Given the description of an element on the screen output the (x, y) to click on. 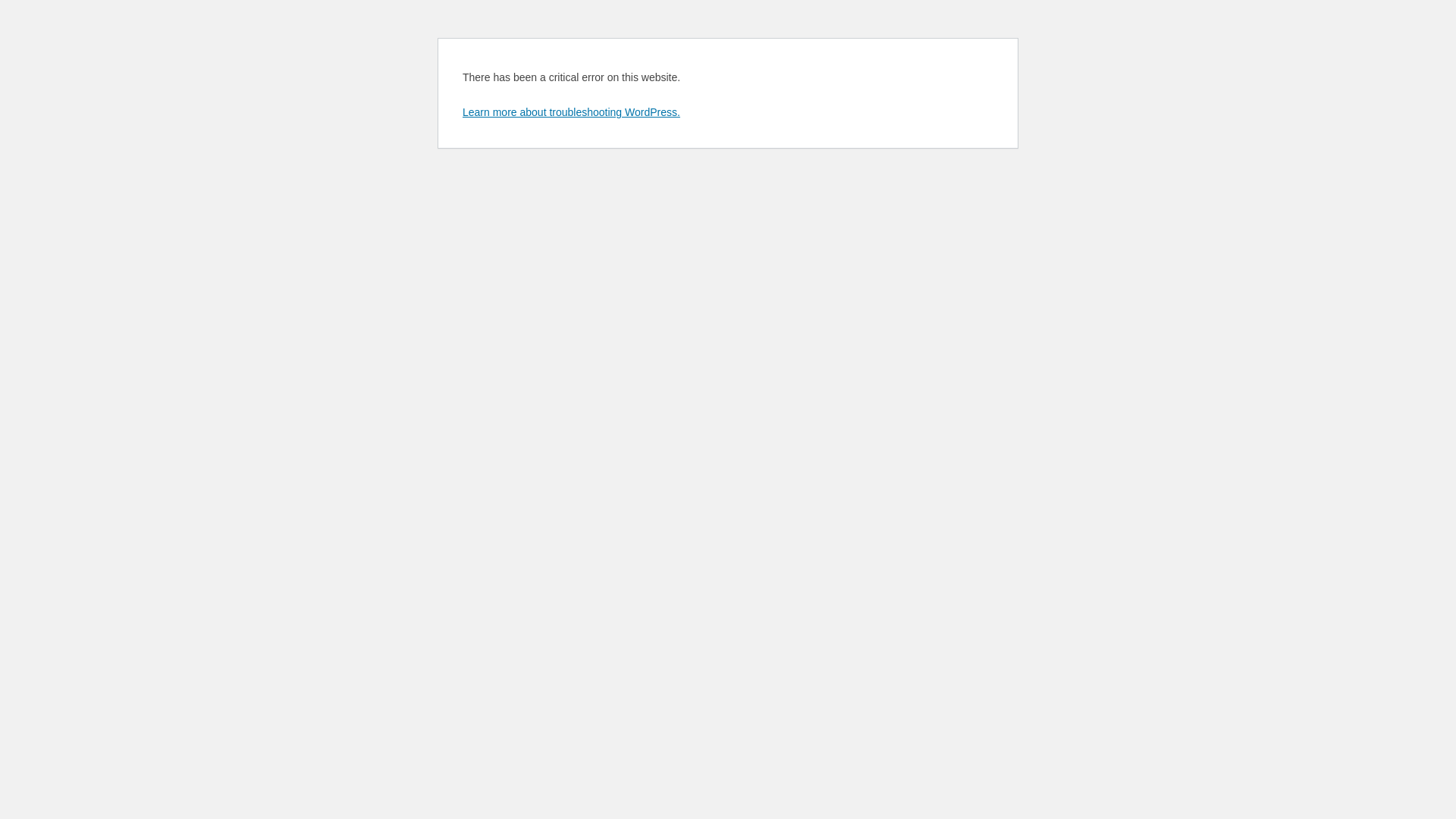
Learn more about troubleshooting WordPress. Element type: text (571, 112)
